Given the description of an element on the screen output the (x, y) to click on. 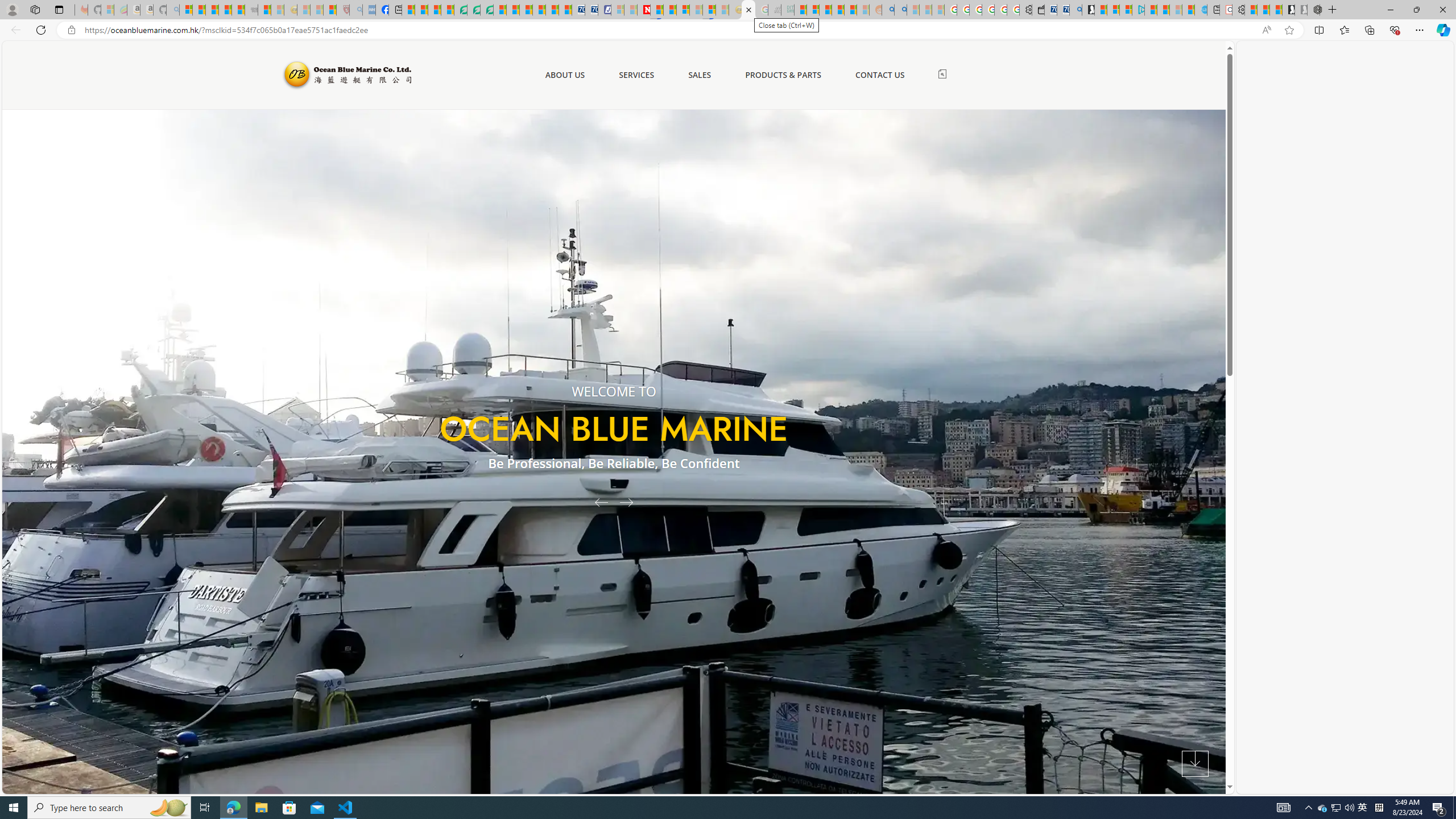
Terms of Use Agreement (473, 9)
ABOUT US (564, 74)
